Given the description of an element on the screen output the (x, y) to click on. 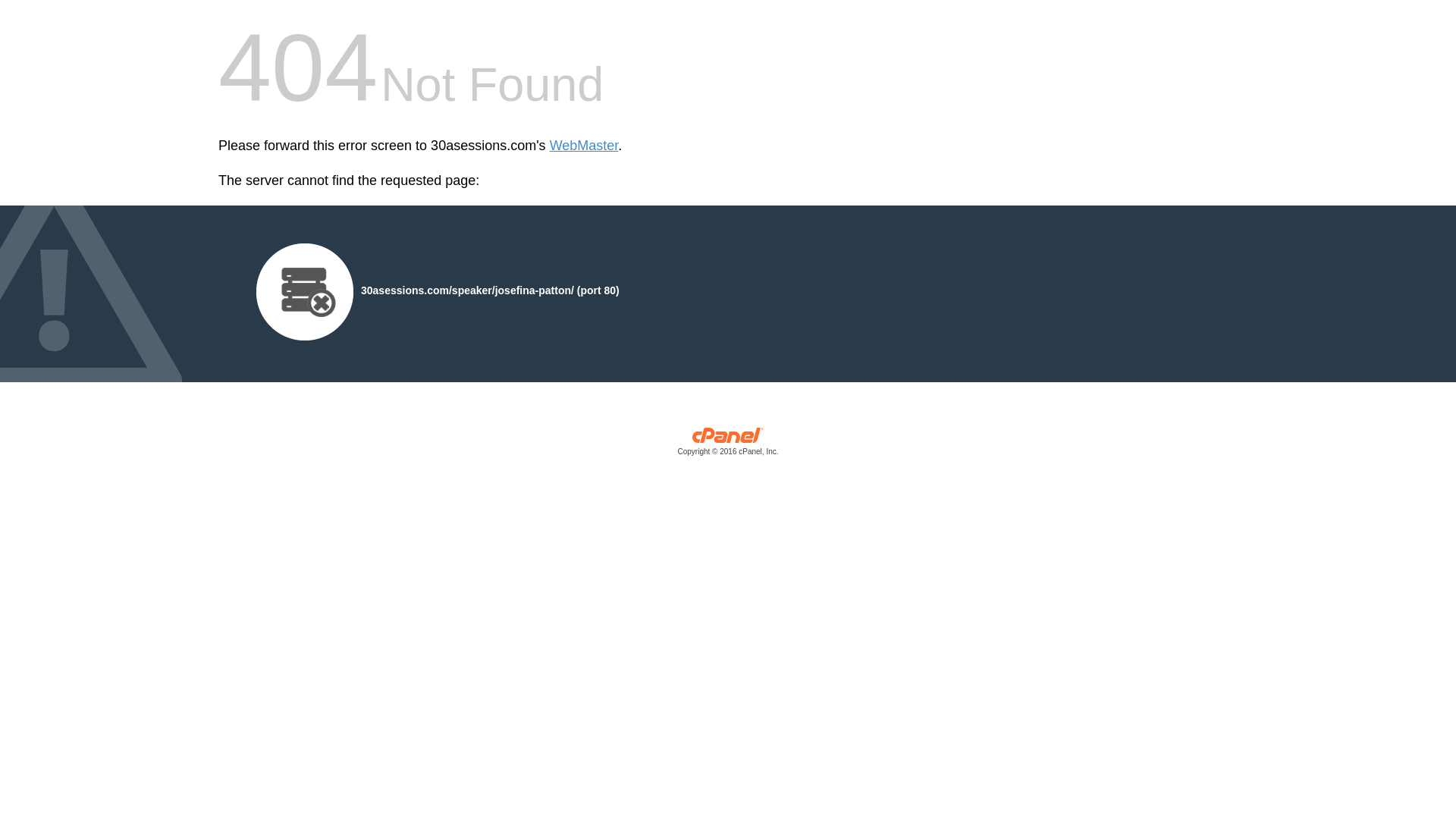
WebMaster Element type: text (583, 145)
